Given the description of an element on the screen output the (x, y) to click on. 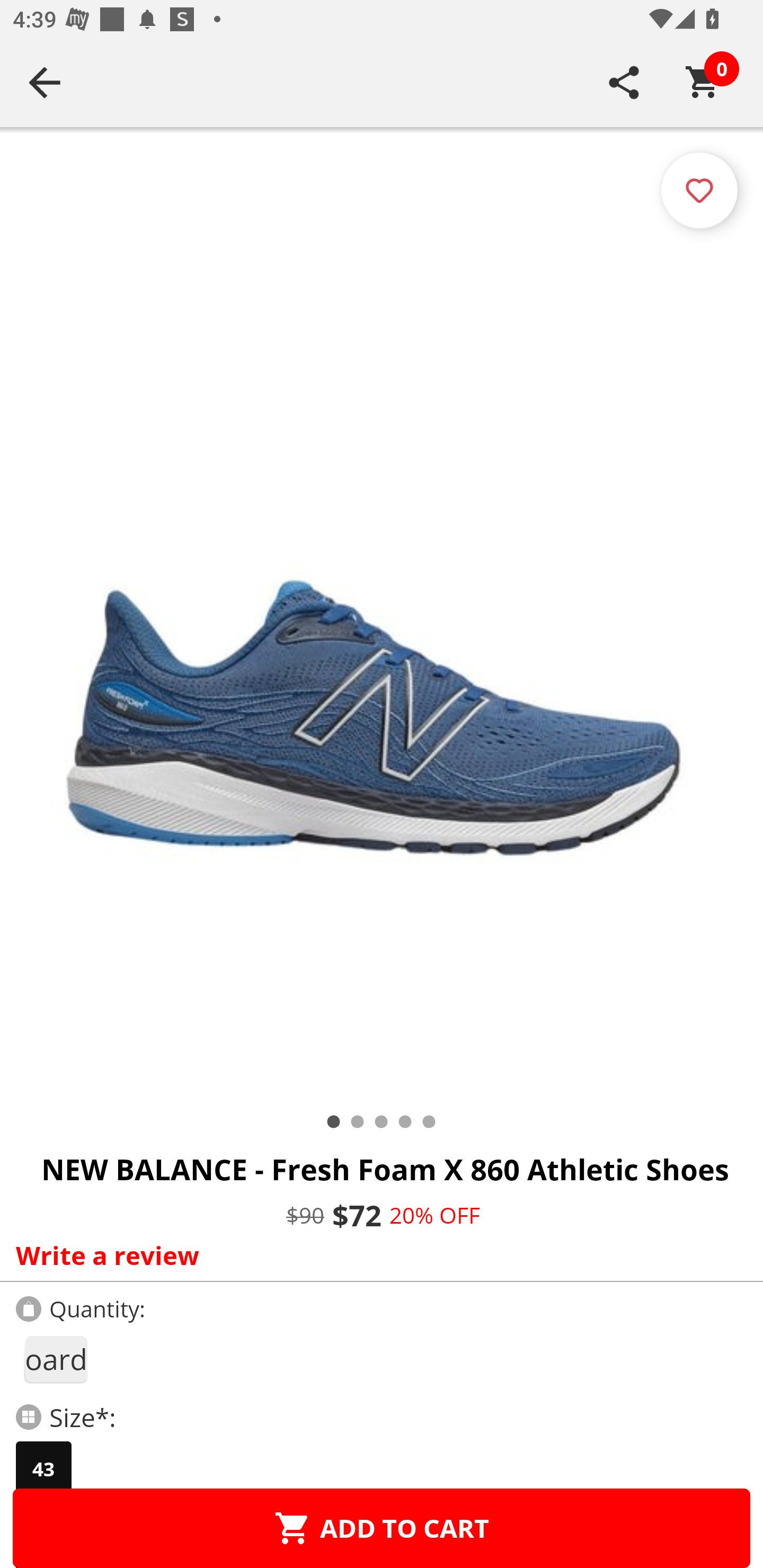
Navigate up (44, 82)
SHARE (623, 82)
Cart (703, 81)
Write a review (377, 1255)
1keyboard (55, 1358)
43 (43, 1468)
ADD TO CART (381, 1528)
